Given the description of an element on the screen output the (x, y) to click on. 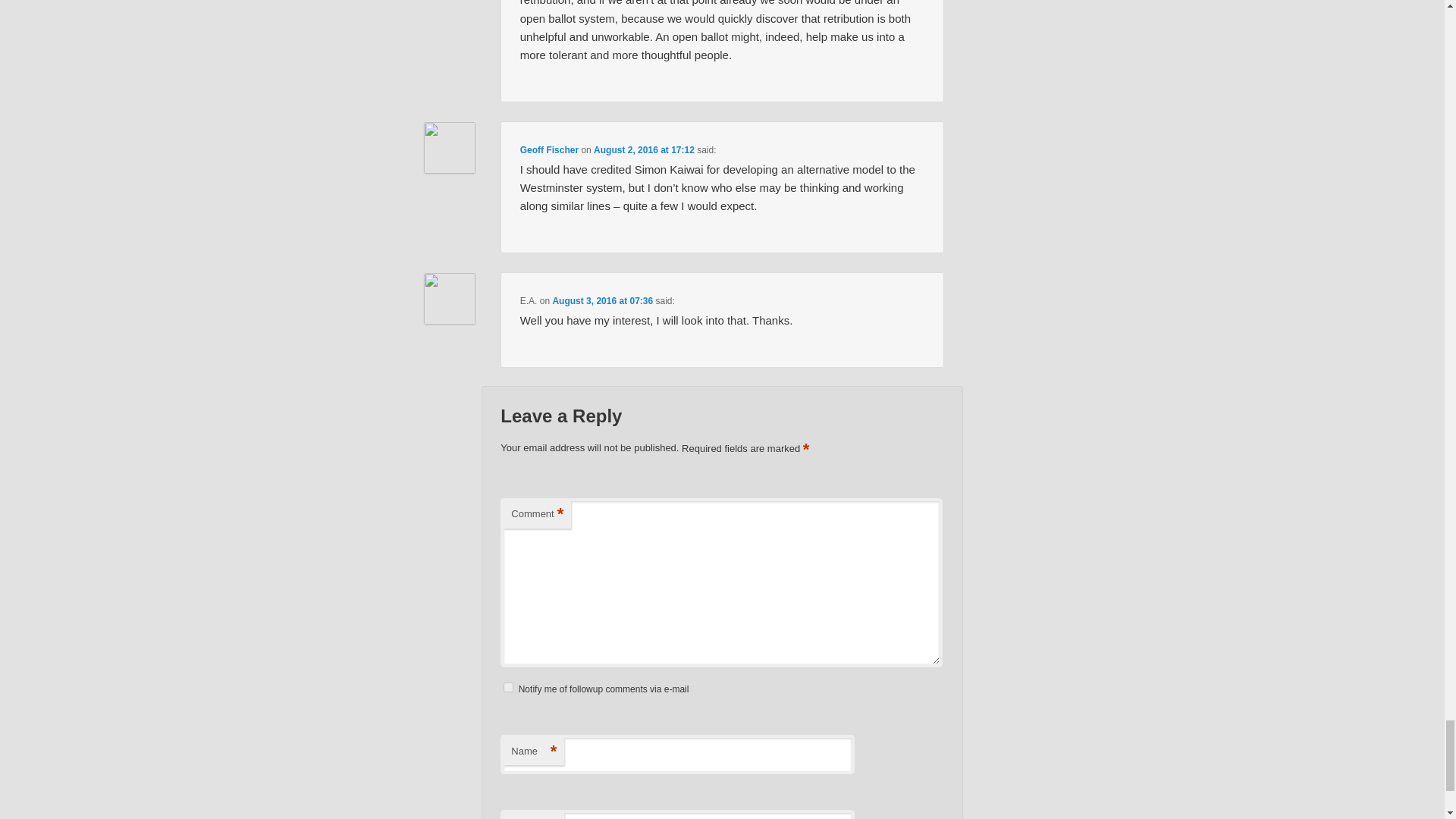
subscribe (508, 687)
